Given the description of an element on the screen output the (x, y) to click on. 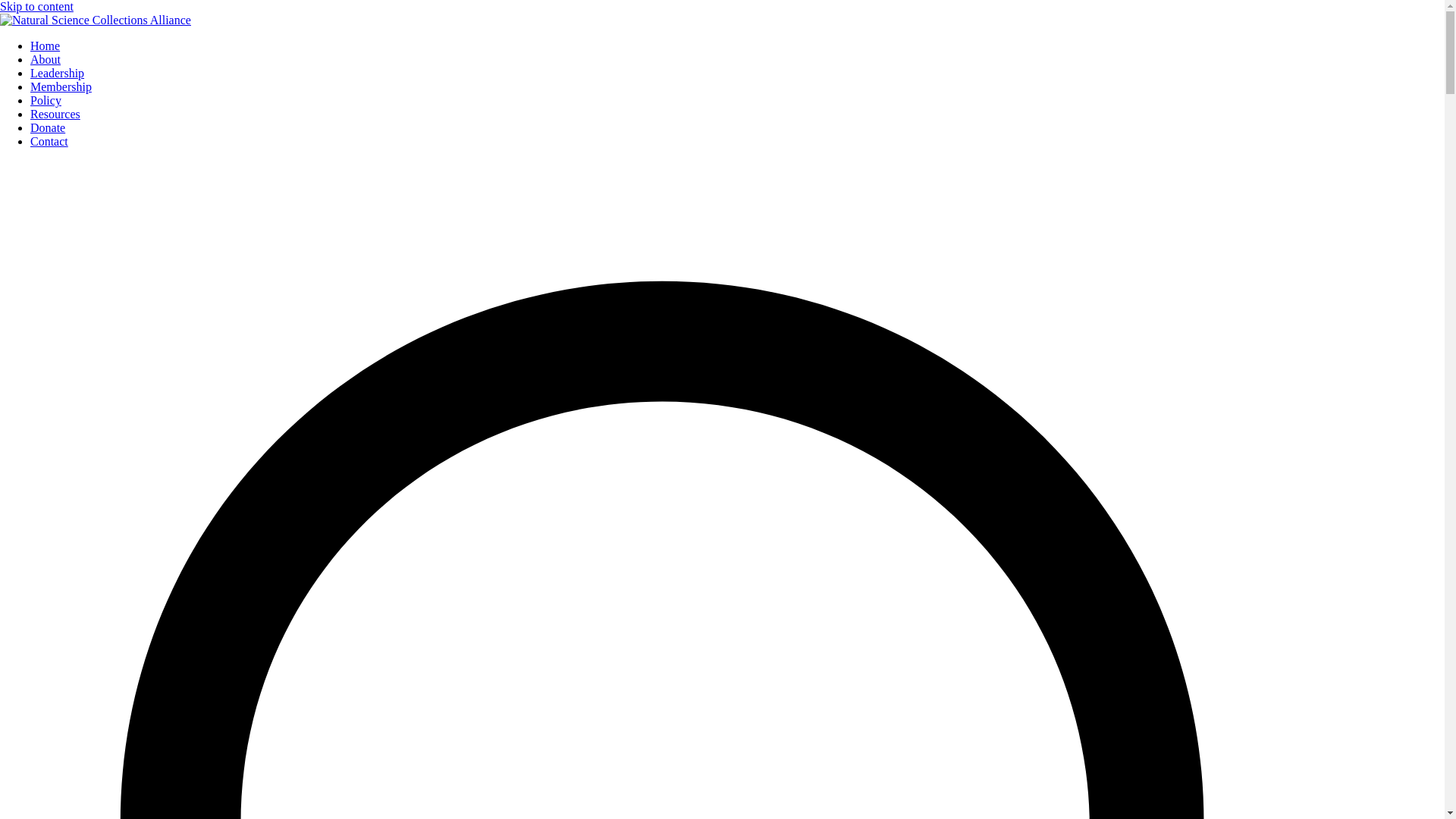
Resources (55, 113)
Skip to content (37, 6)
About (45, 59)
Home (44, 45)
Policy (45, 100)
Donate (47, 127)
Membership (60, 86)
Contact (49, 141)
Natural Science Collections Alliance (89, 45)
Leadership (57, 72)
